Given the description of an element on the screen output the (x, y) to click on. 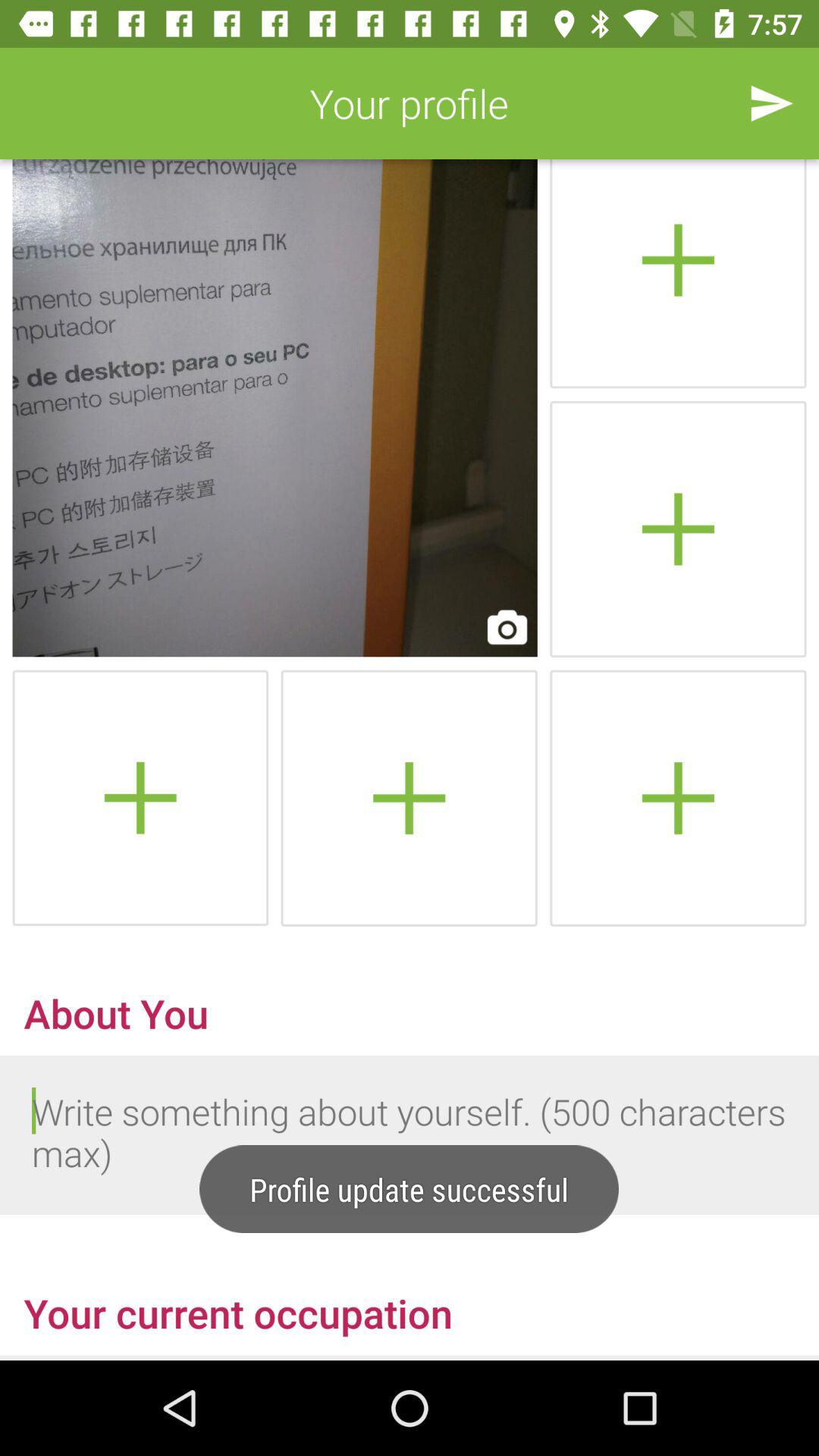
add profile photo (677, 273)
